Given the description of an element on the screen output the (x, y) to click on. 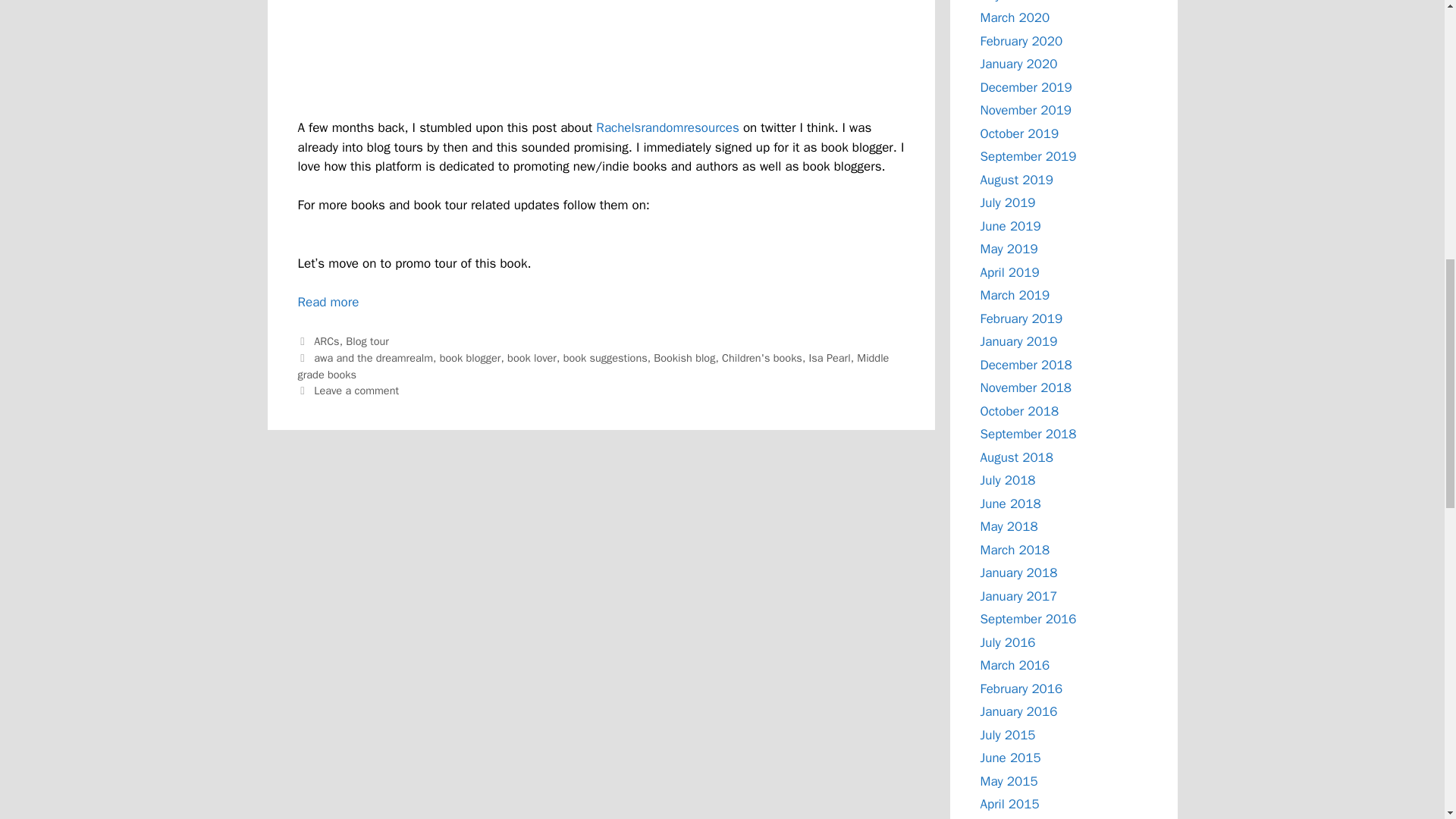
Blog tour (367, 341)
book lover (531, 357)
Bookish blog (683, 357)
Rachelsrandomresources (327, 302)
ARCs (666, 127)
book suggestions (326, 341)
book blogger (605, 357)
July 2020 (469, 357)
Children's books (1007, 1)
